Given the description of an element on the screen output the (x, y) to click on. 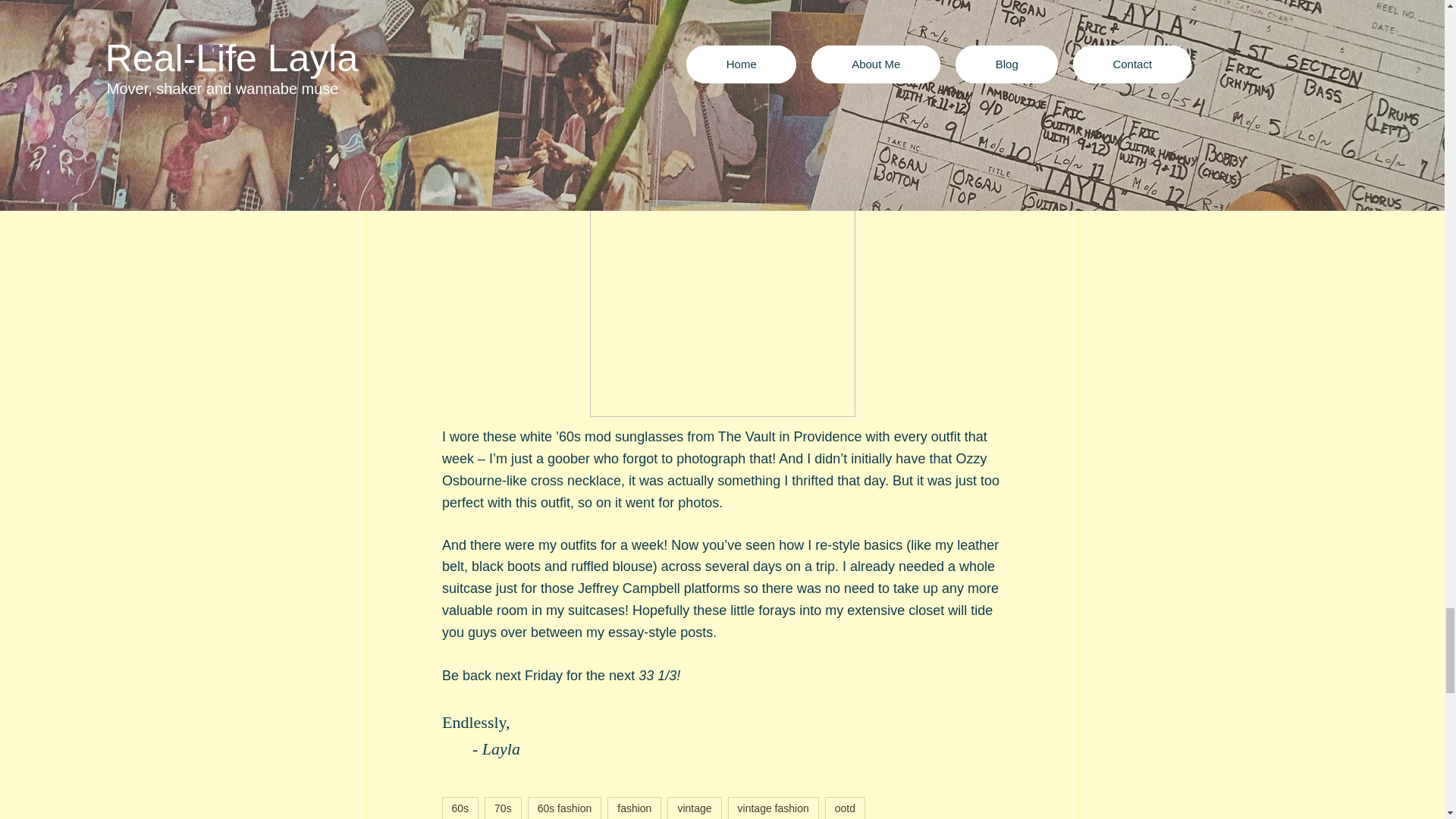
70s (502, 807)
60s (460, 807)
fashion (634, 807)
ootd (844, 807)
vintage (693, 807)
60s fashion (564, 807)
vintage fashion (773, 807)
